Given the description of an element on the screen output the (x, y) to click on. 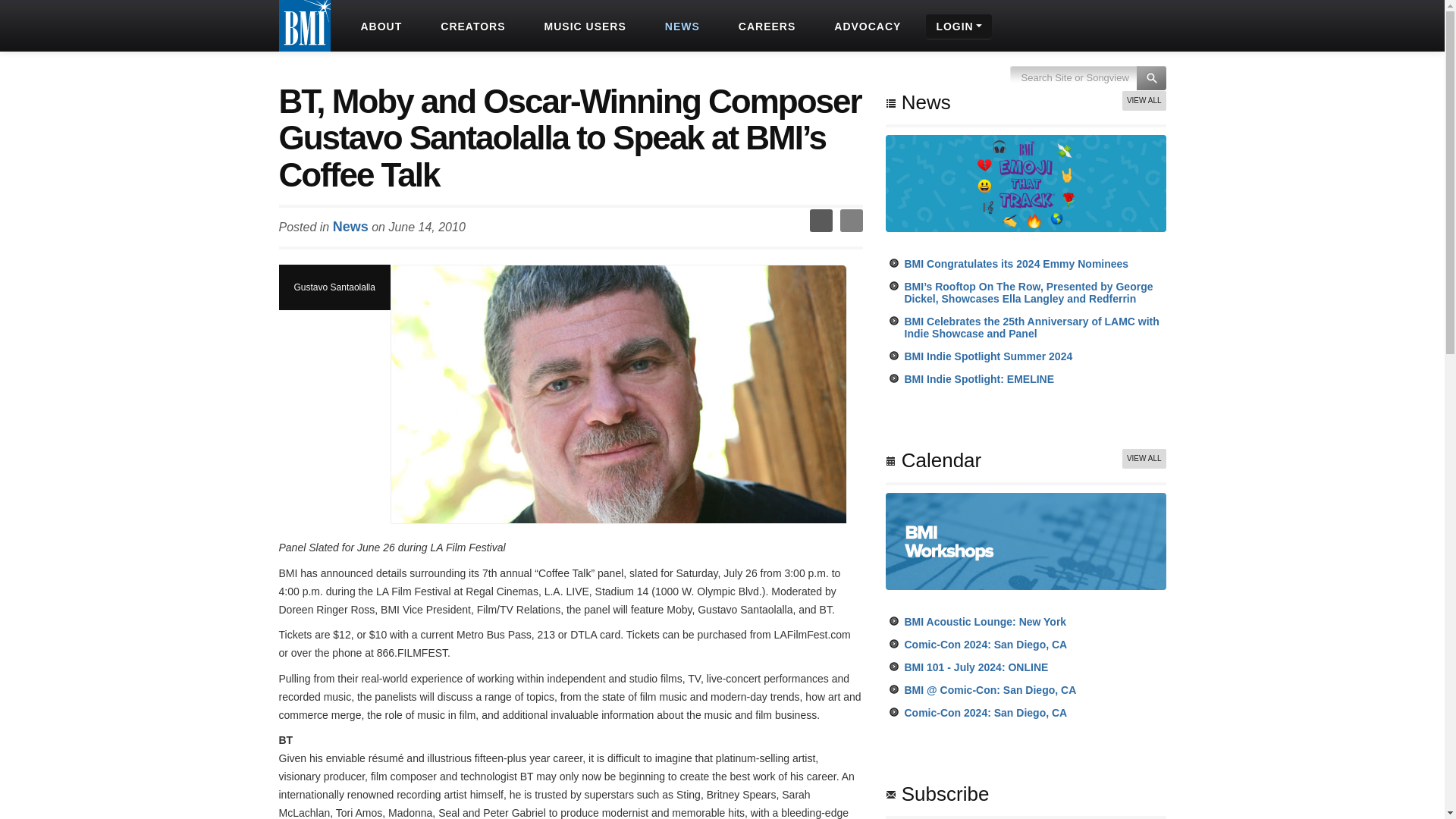
ADVOCACY (865, 25)
CAREERS (764, 25)
NEWS (680, 25)
ABOUT (379, 25)
clear results (1088, 87)
CREATORS (470, 25)
MUSIC USERS (583, 25)
